Given the description of an element on the screen output the (x, y) to click on. 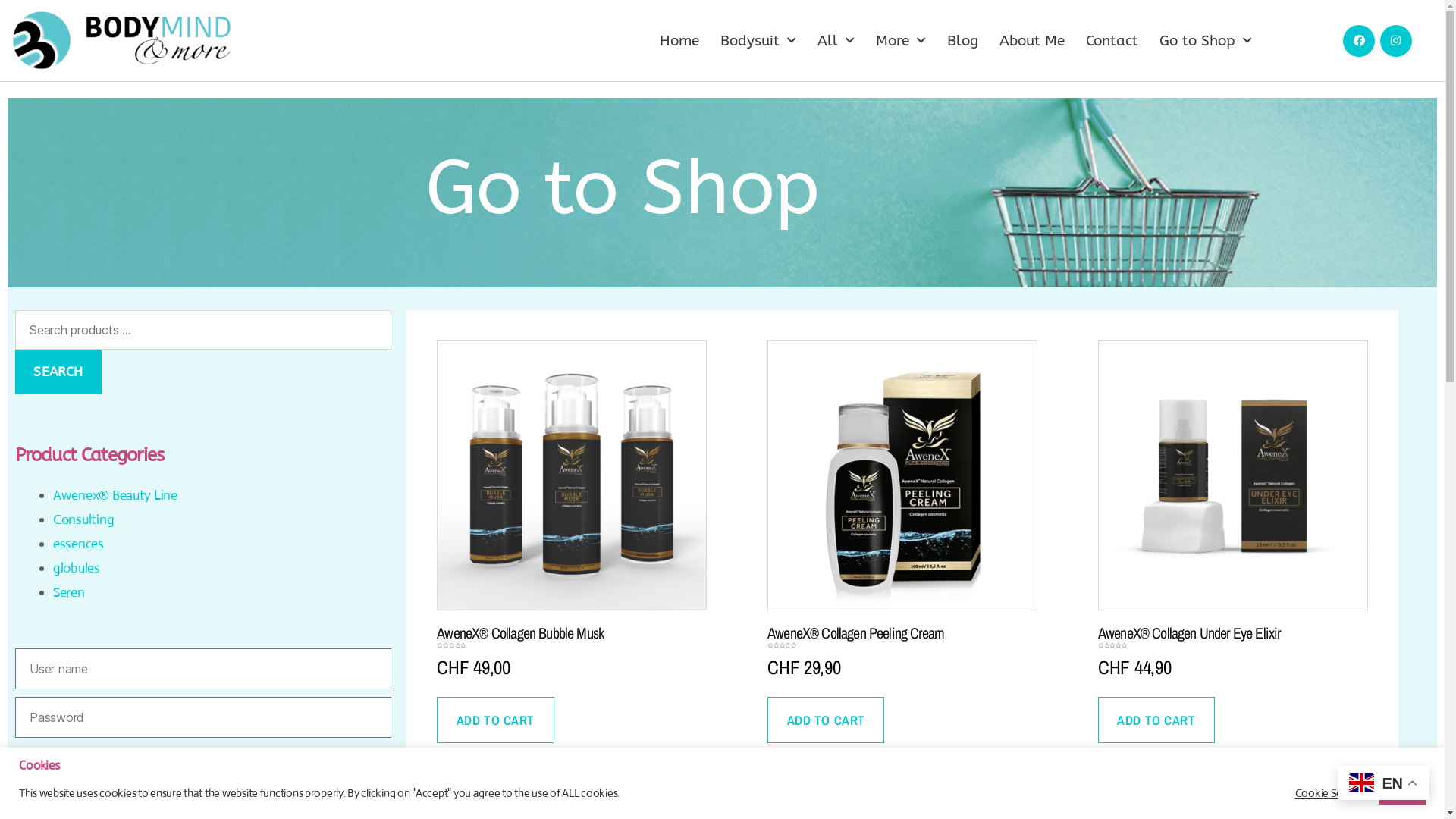
ADD TO CART Element type: text (825, 719)
SEARCH Element type: text (58, 371)
Cookie Settings Element type: text (1331, 792)
ADD TO CART Element type: text (1156, 719)
Consulting Element type: text (83, 519)
globules Element type: text (76, 567)
Bodysuit Element type: text (757, 39)
More Element type: text (900, 39)
essences Element type: text (78, 543)
ADD TO CART Element type: text (494, 719)
Home Element type: text (679, 39)
Seren Element type: text (68, 591)
Blog Element type: text (962, 39)
Go to Shop Element type: text (1205, 39)
LOGIN Element type: text (50, 787)
All Element type: text (835, 39)
Contact Element type: text (1111, 39)
About Me Element type: text (1031, 39)
Accept Element type: text (1402, 792)
